Given the description of an element on the screen output the (x, y) to click on. 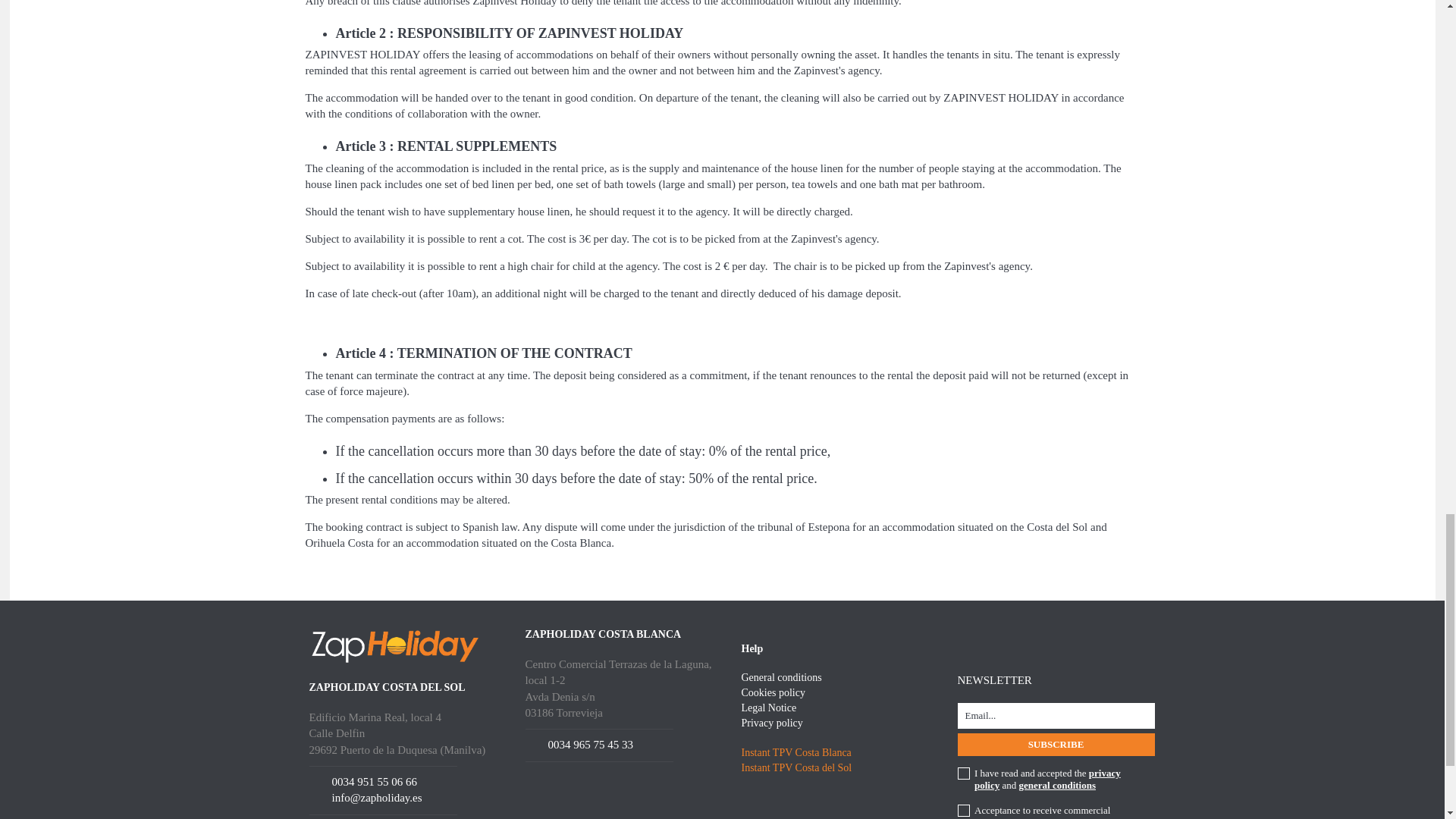
Subscribe (1055, 744)
